Given the description of an element on the screen output the (x, y) to click on. 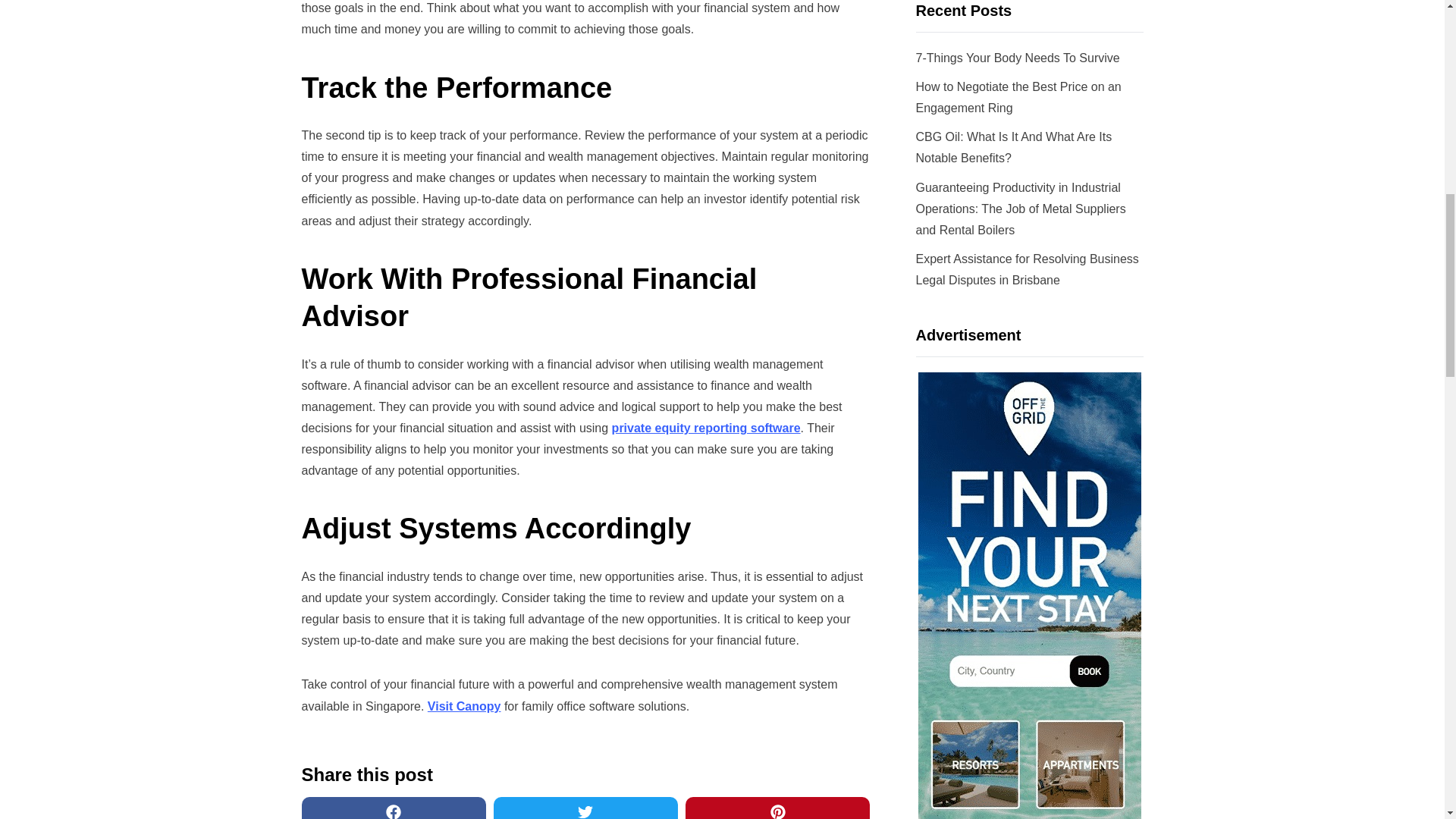
Visit Canopy (464, 706)
private equity reporting software (705, 427)
